Given the description of an element on the screen output the (x, y) to click on. 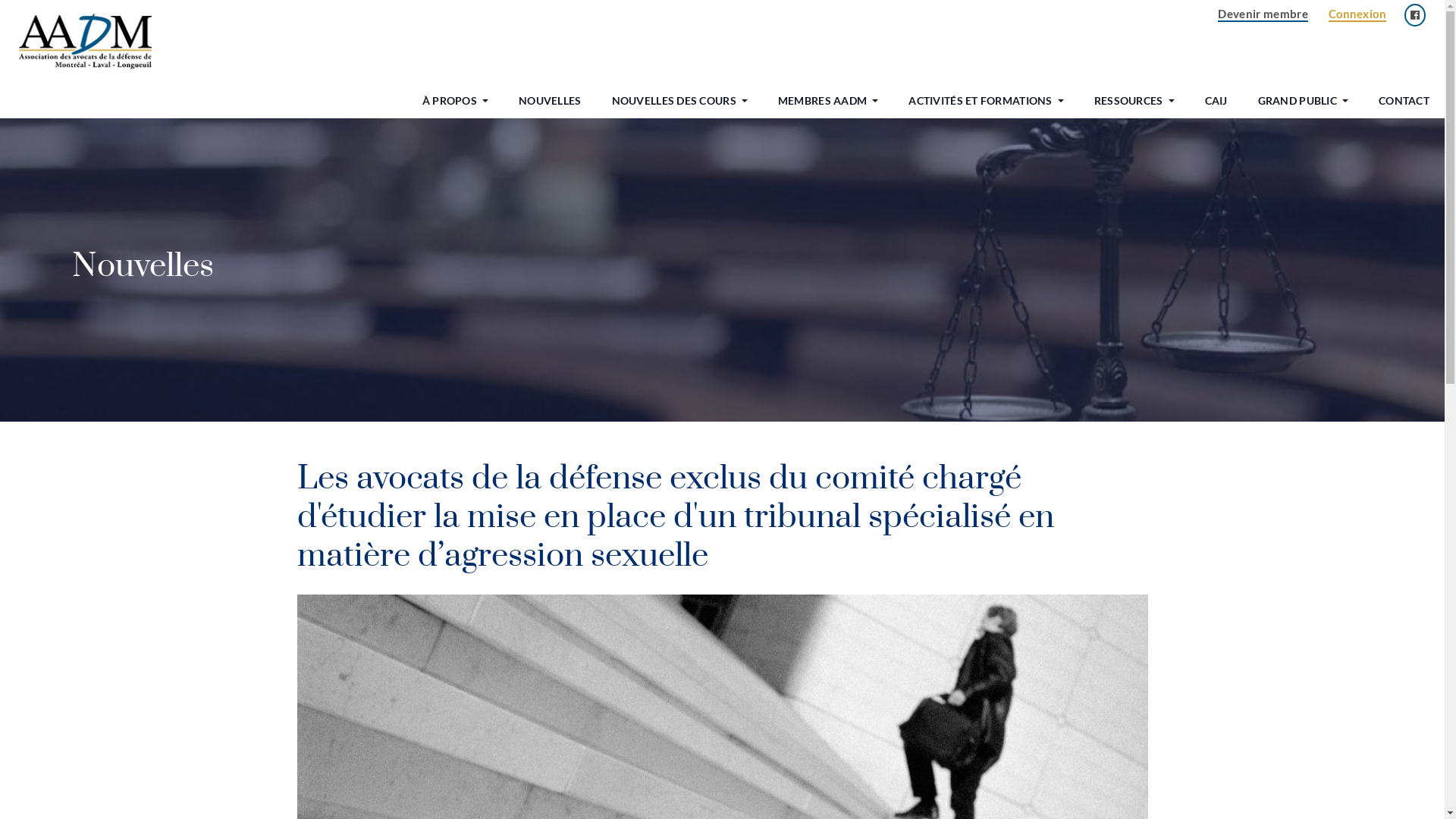
MEMBRES AADM Element type: text (821, 100)
GRAND PUBLIC Element type: text (1297, 100)
Devenir membre Element type: text (1262, 13)
CONTACT Element type: text (1403, 100)
NOUVELLES DES COURS Element type: text (673, 100)
NOUVELLES Element type: text (549, 100)
Connexion Element type: text (1357, 13)
CAIJ Element type: text (1215, 100)
RESSOURCES Element type: text (1128, 100)
facebook Element type: text (1414, 14)
